Given the description of an element on the screen output the (x, y) to click on. 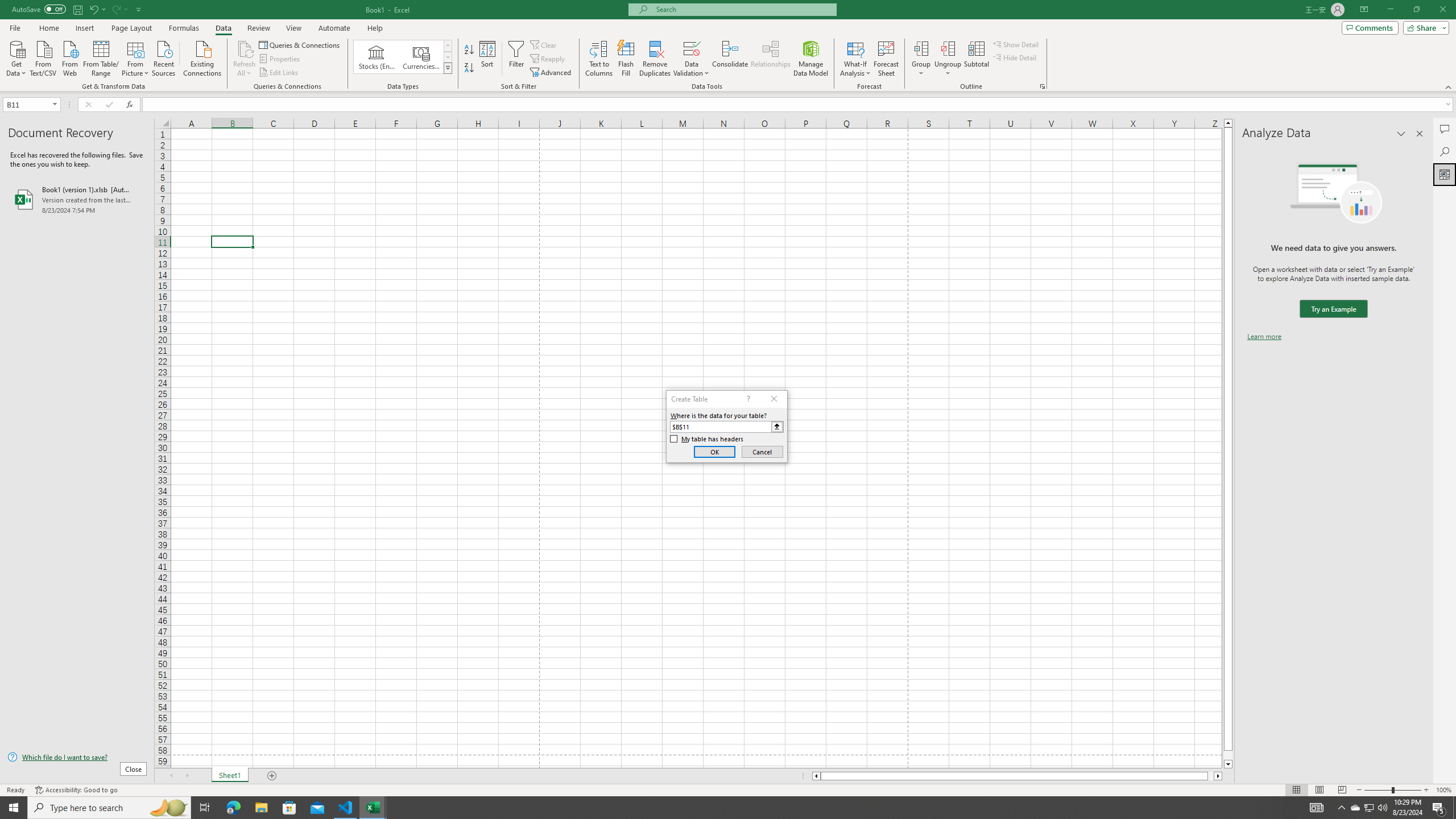
From Picture (135, 57)
Sort A to Z (469, 49)
